Given the description of an element on the screen output the (x, y) to click on. 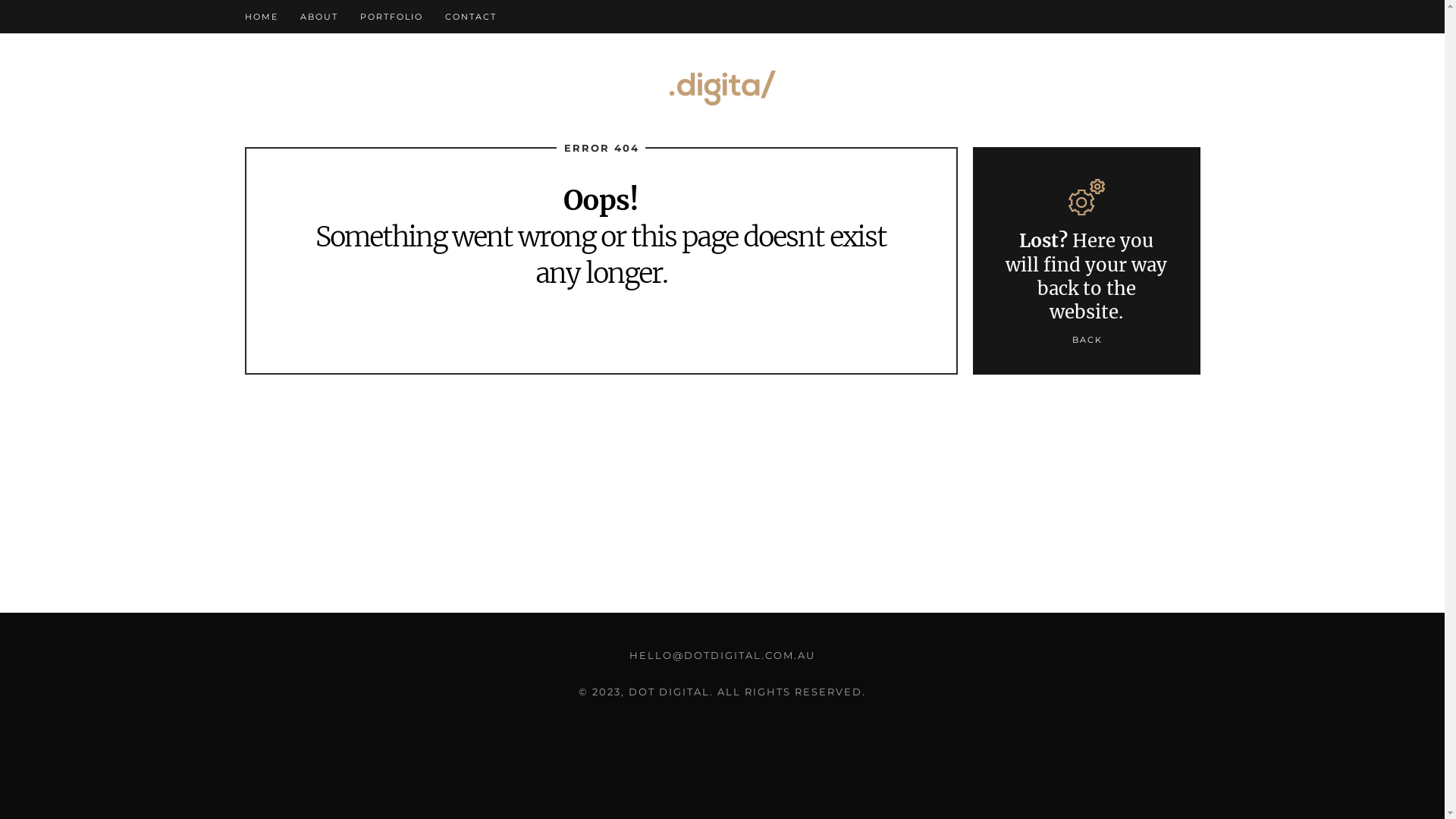
ABOUT Element type: text (319, 16)
CONTACT Element type: text (469, 16)
HOME Element type: text (260, 16)
PORTFOLIO Element type: text (390, 16)
HELLO@DOTDIGITAL.COM.AU Element type: text (722, 655)
Yonkers Element type: text (721, 87)
